Given the description of an element on the screen output the (x, y) to click on. 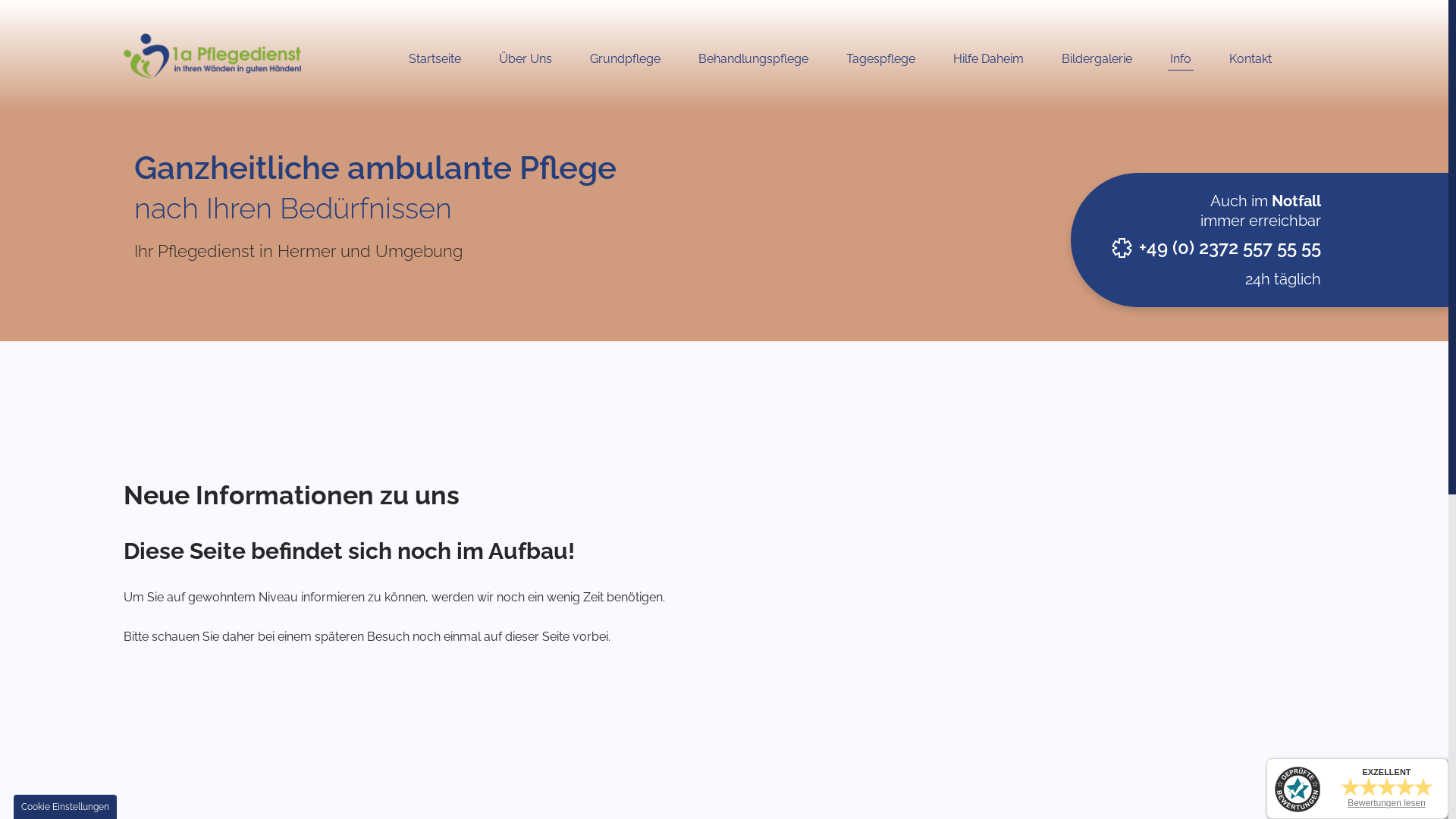
Bewertungen lesen Element type: text (1386, 802)
Grundpflege Element type: text (624, 58)
Info Element type: text (1180, 58)
Hilfe Daheim Element type: text (988, 58)
Tagespflege Element type: text (880, 58)
Startseite Element type: text (434, 58)
Ambulanter Pflegedienst in Hemer und in der Umgebung Element type: hover (212, 68)
Sitemap anzeigen Element type: text (846, 466)
Bildergalerie Element type: text (1096, 58)
Behandlungspflege Element type: text (753, 58)
Kontakt Element type: text (1250, 58)
+49 (0) 2372 557 55 55 Element type: text (1230, 247)
